Given the description of an element on the screen output the (x, y) to click on. 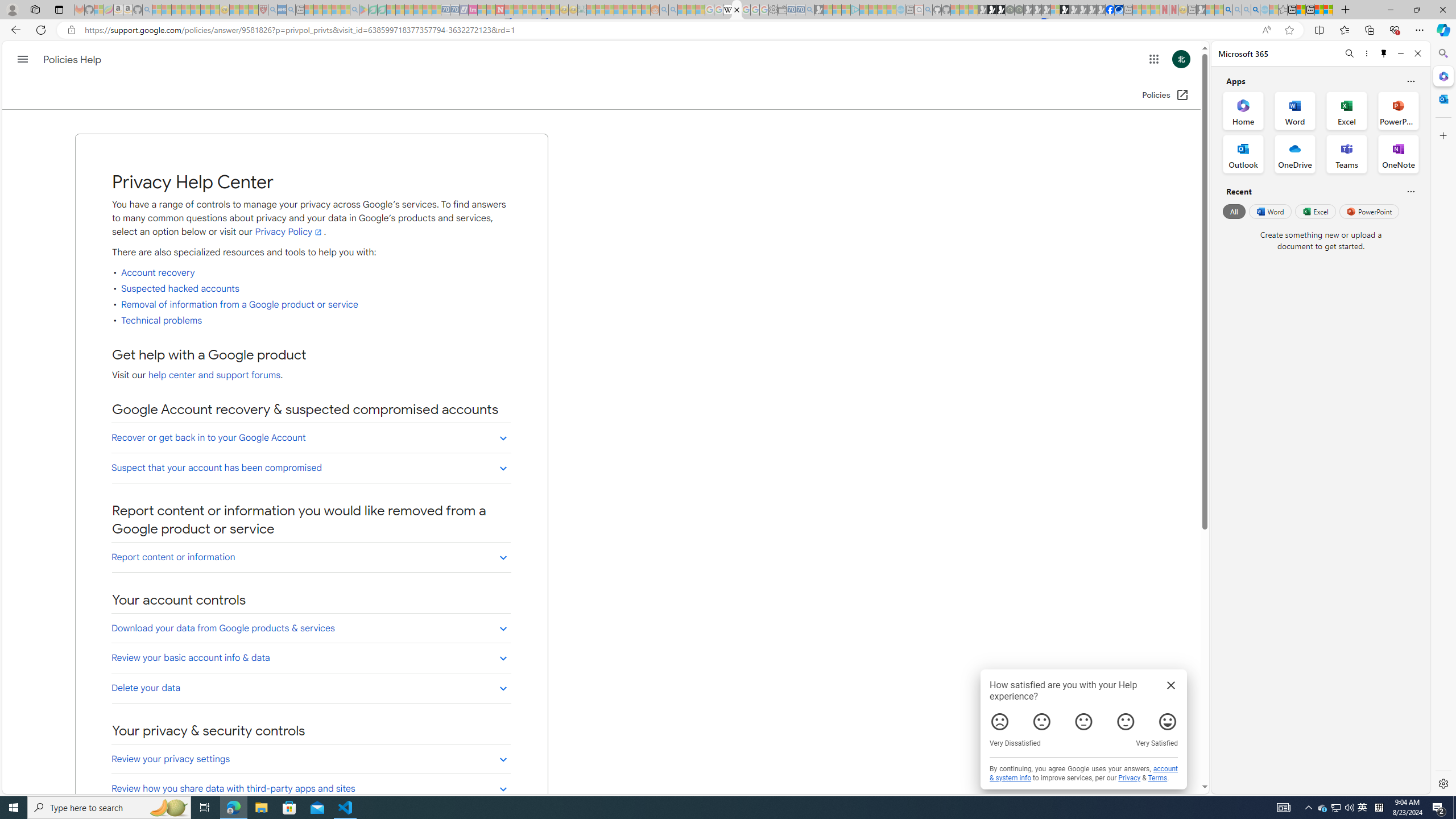
Suspect that your account has been compromised (311, 467)
Privacy Policy (289, 231)
